Given the description of an element on the screen output the (x, y) to click on. 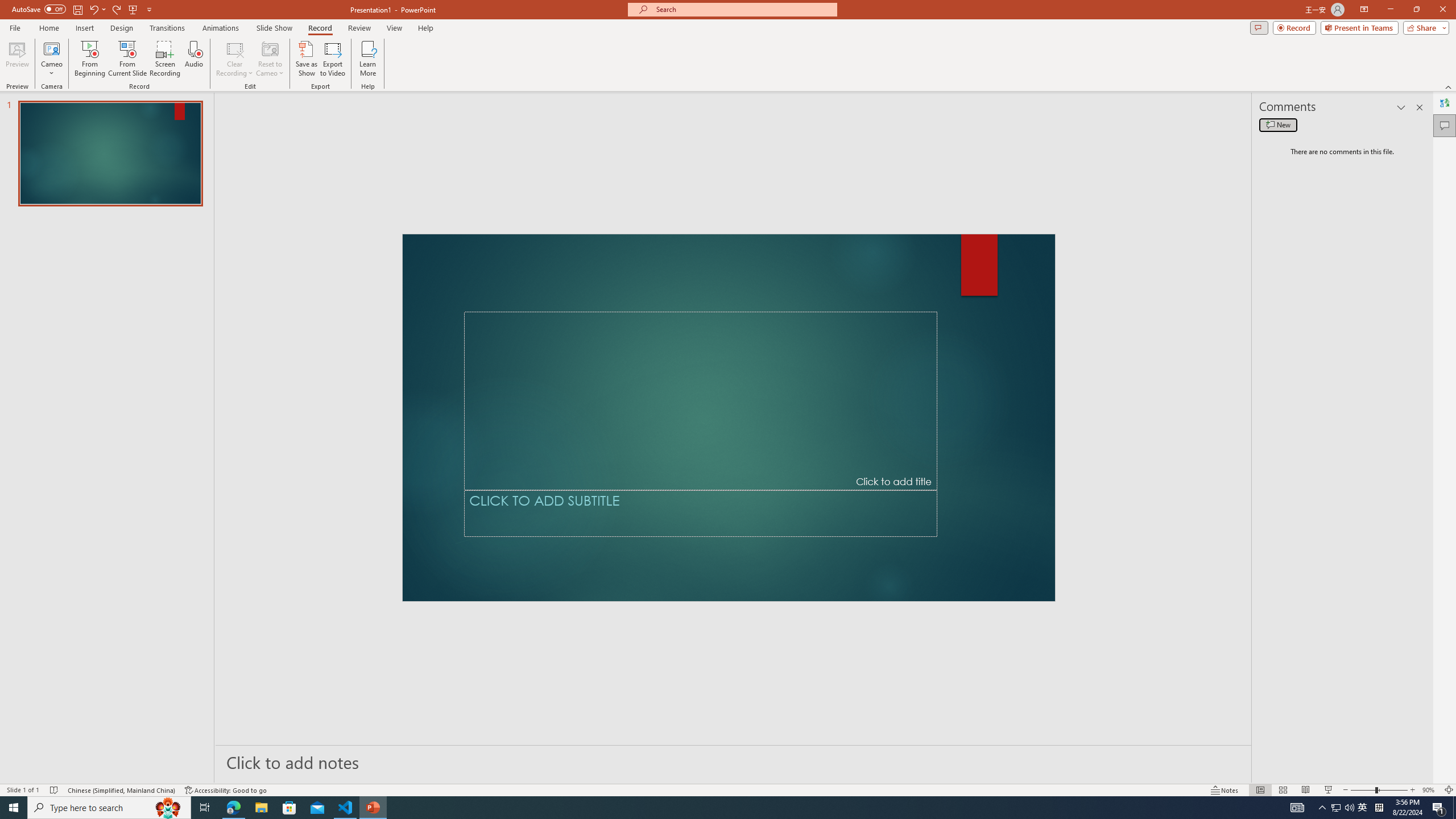
Reset to Cameo (269, 58)
New comment (1278, 124)
Export to Video (332, 58)
Learn More (368, 58)
Screen Recording (165, 58)
